Given the description of an element on the screen output the (x, y) to click on. 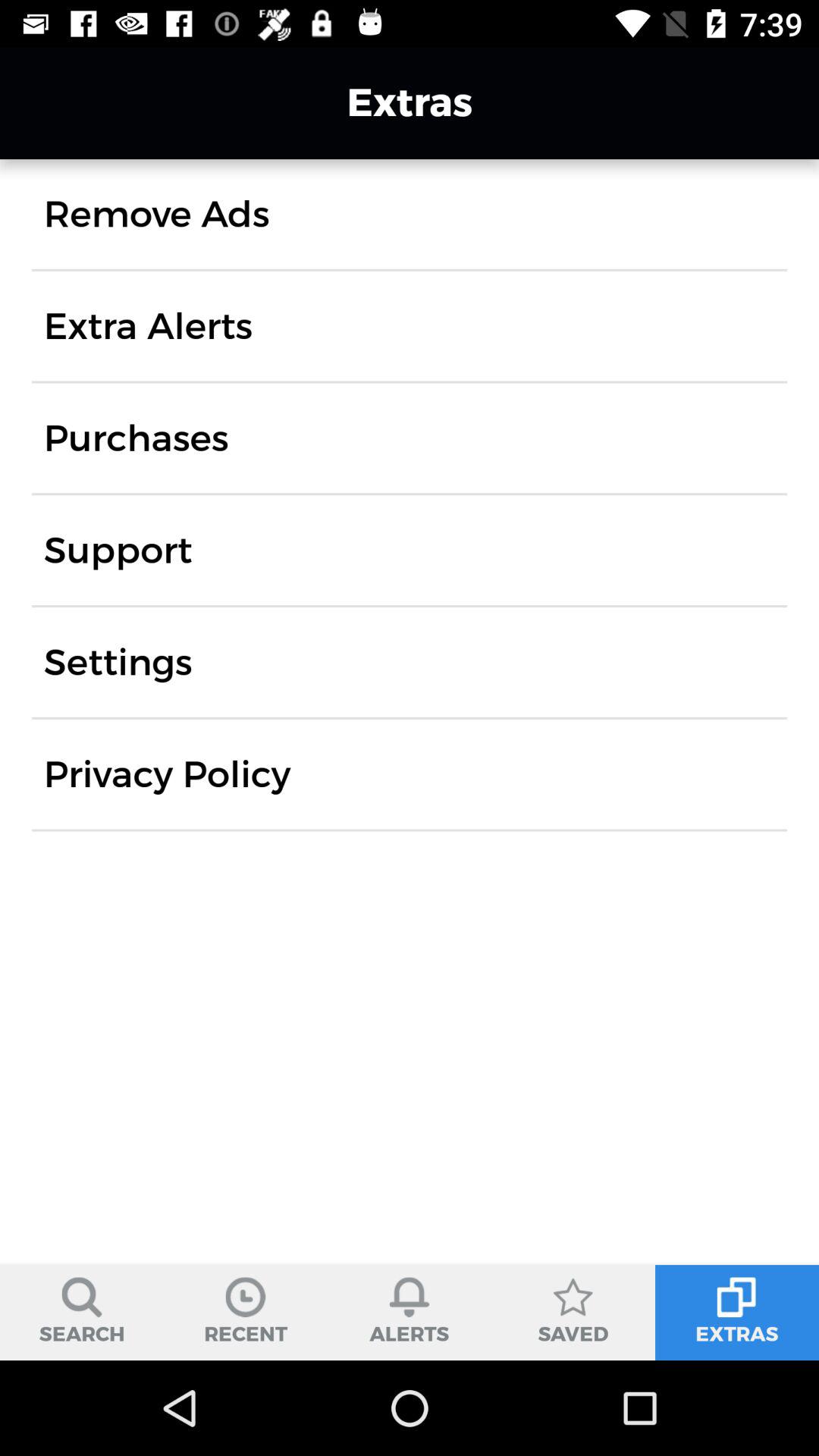
turn off icon below the settings icon (166, 774)
